Given the description of an element on the screen output the (x, y) to click on. 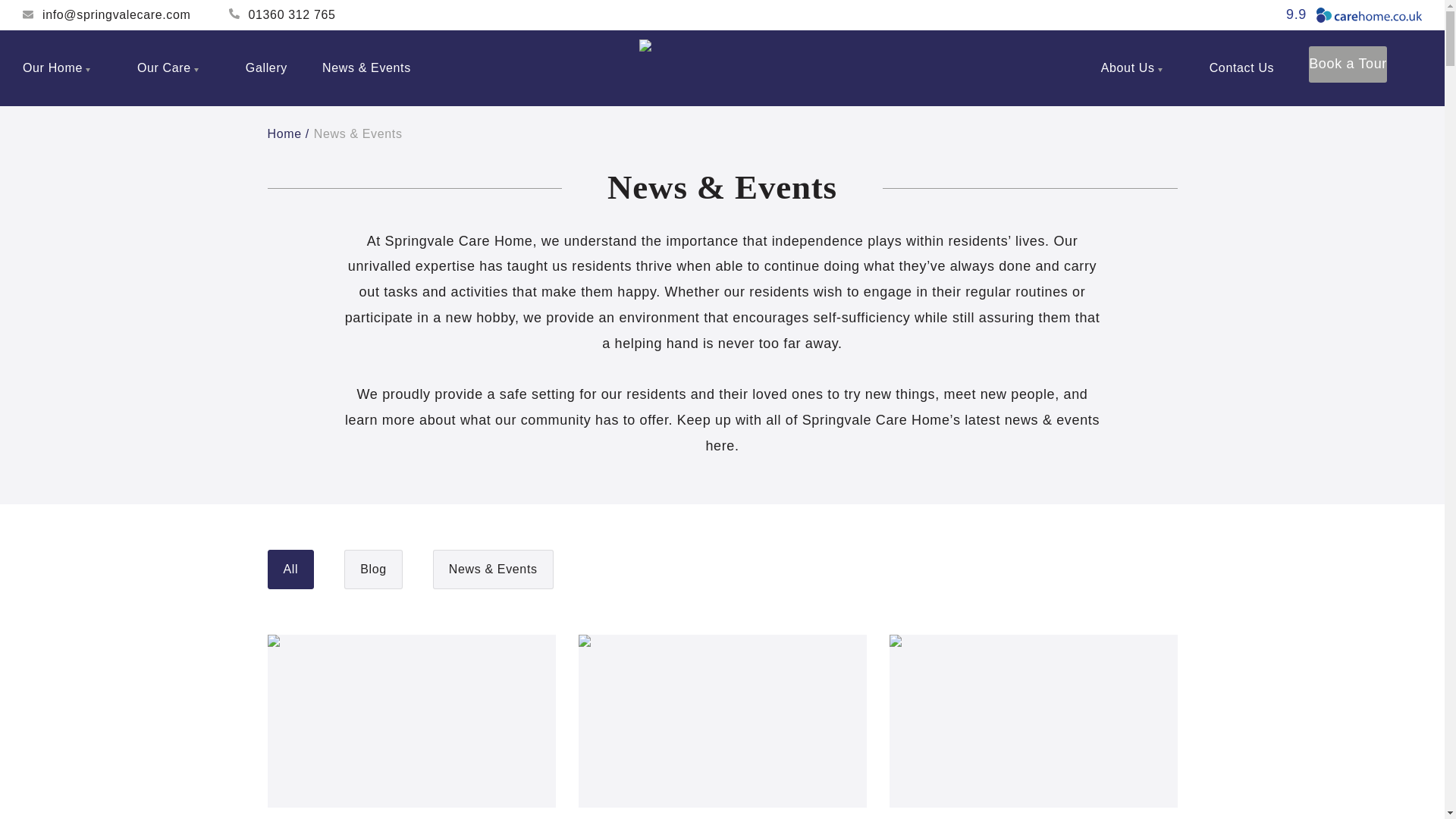
Gallery (266, 68)
Our Home (62, 68)
Book a Tour (1347, 63)
9.9 (1353, 14)
About Us (1137, 68)
Contact Us (1242, 68)
01360 312 765 (282, 15)
Our Care (173, 68)
